Given the description of an element on the screen output the (x, y) to click on. 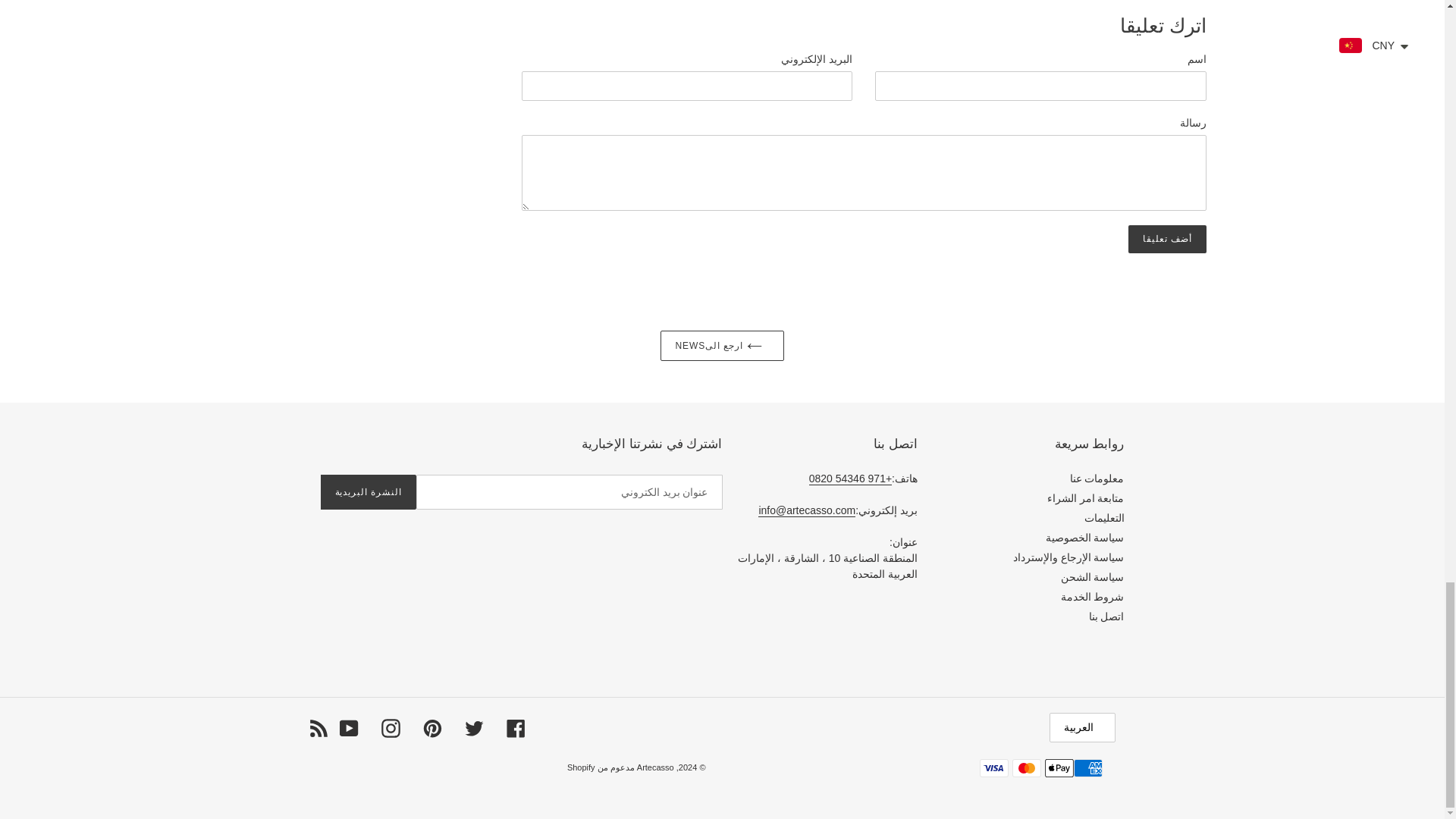
Facebook (515, 728)
